Given the description of an element on the screen output the (x, y) to click on. 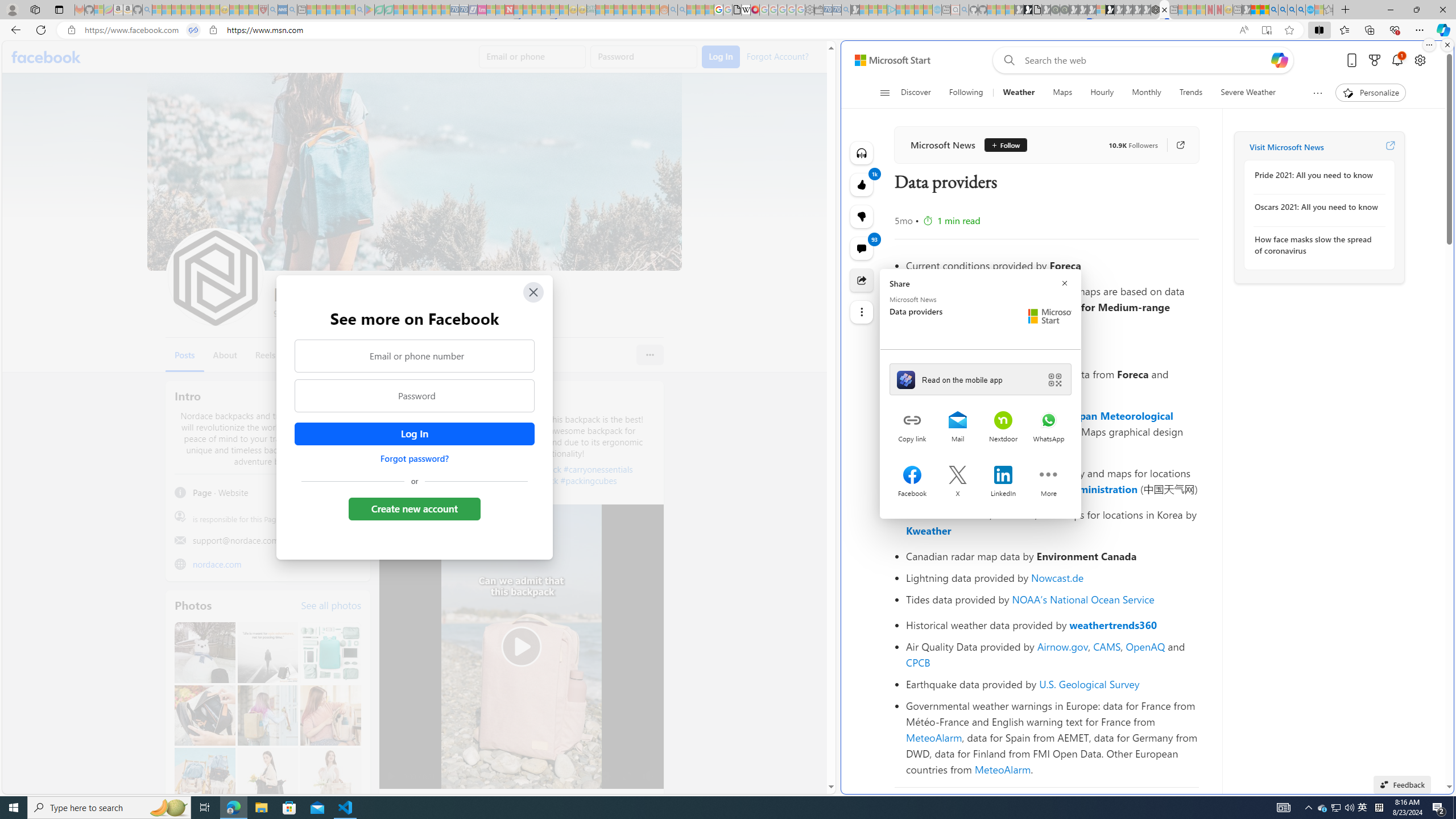
Future Focus Report 2024 - Sleeping (1064, 9)
